Given the description of an element on the screen output the (x, y) to click on. 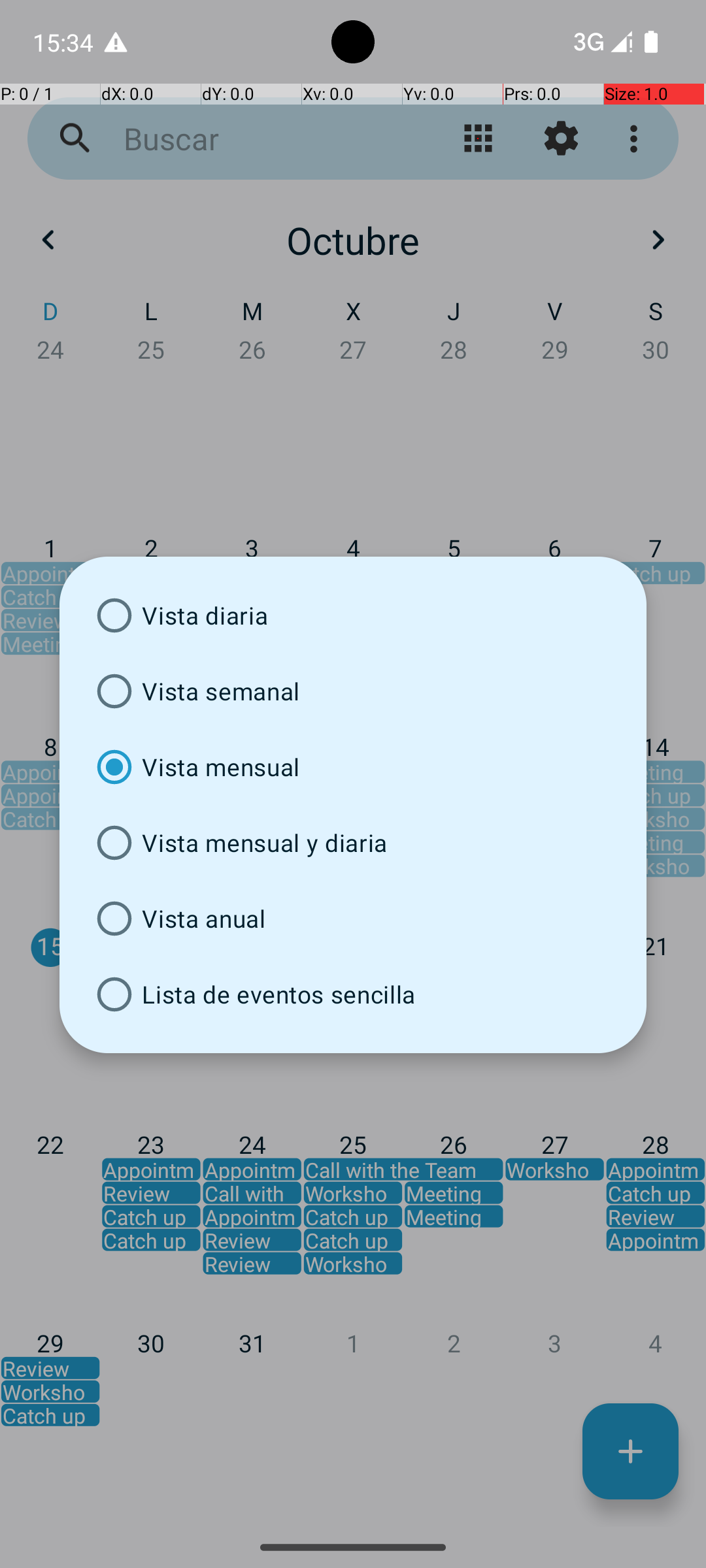
Vista diaria Element type: android.widget.RadioButton (352, 615)
Vista semanal Element type: android.widget.RadioButton (352, 691)
Vista mensual Element type: android.widget.RadioButton (352, 766)
Vista mensual y diaria Element type: android.widget.RadioButton (352, 842)
Vista anual Element type: android.widget.RadioButton (352, 918)
Lista de eventos sencilla Element type: android.widget.RadioButton (352, 994)
